Given the description of an element on the screen output the (x, y) to click on. 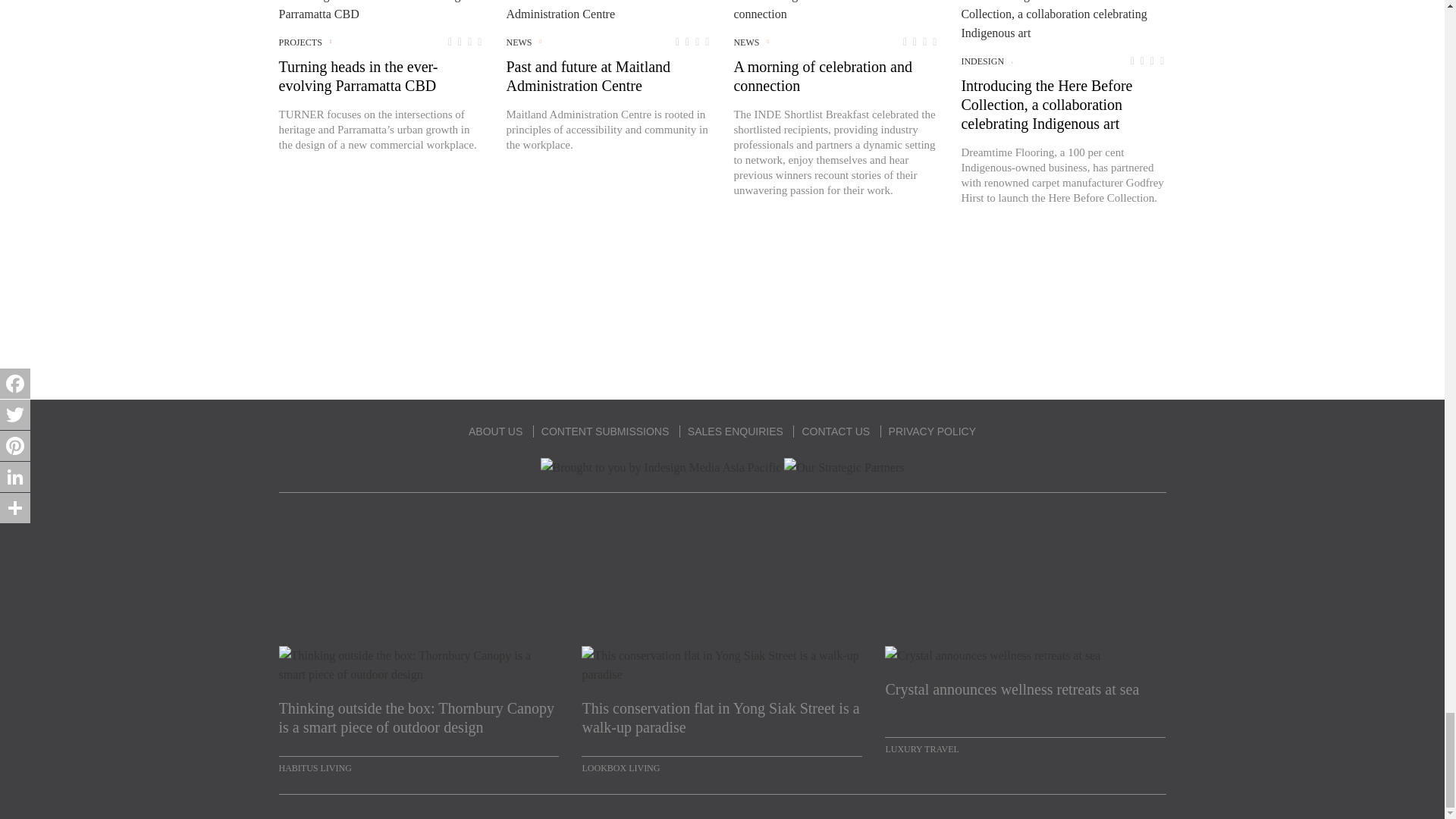
Turning heads in the ever-evolving Parramatta CBD (381, 11)
